Given the description of an element on the screen output the (x, y) to click on. 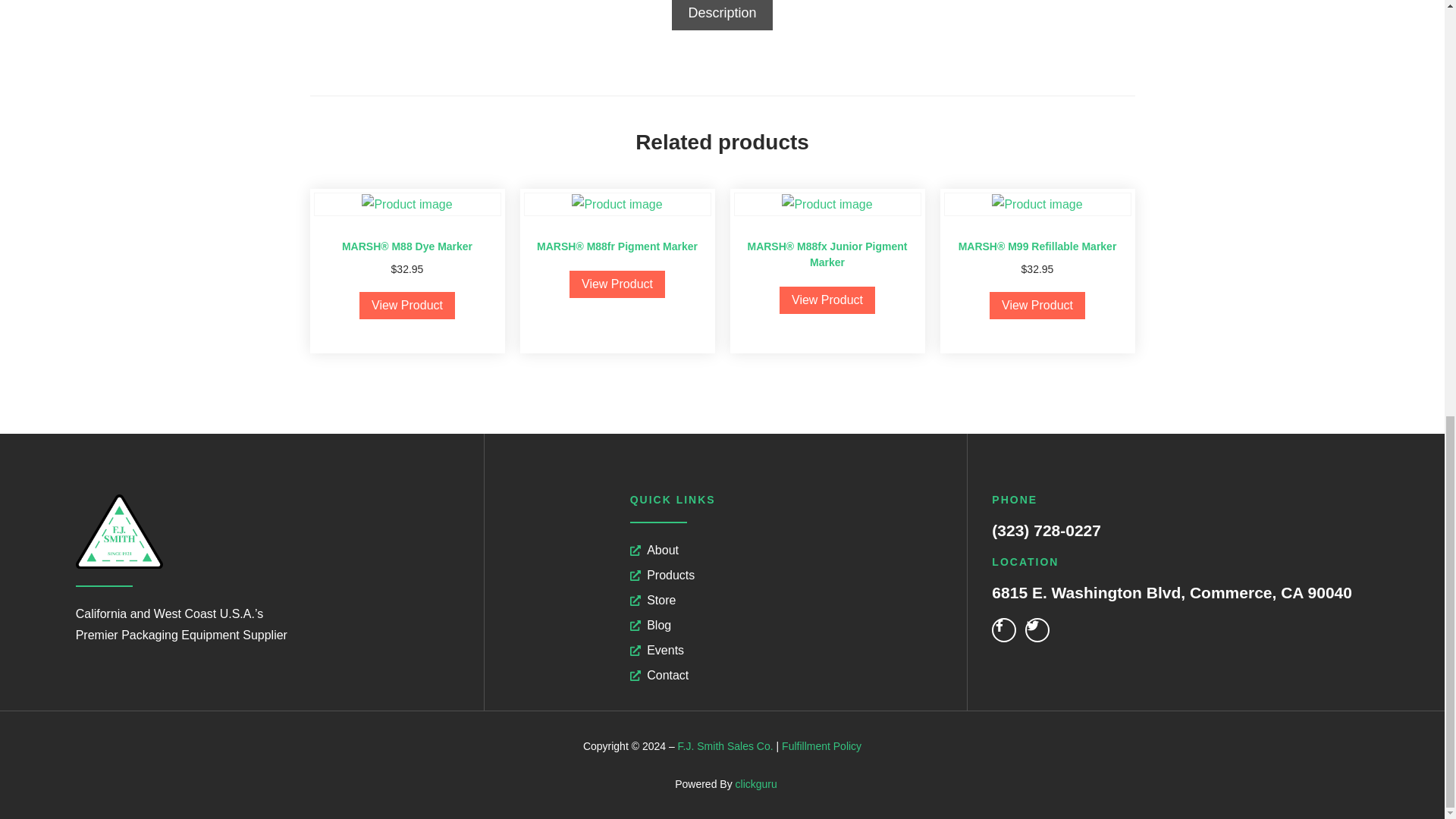
View Product (406, 305)
View Product (617, 284)
Description (722, 15)
